Given the description of an element on the screen output the (x, y) to click on. 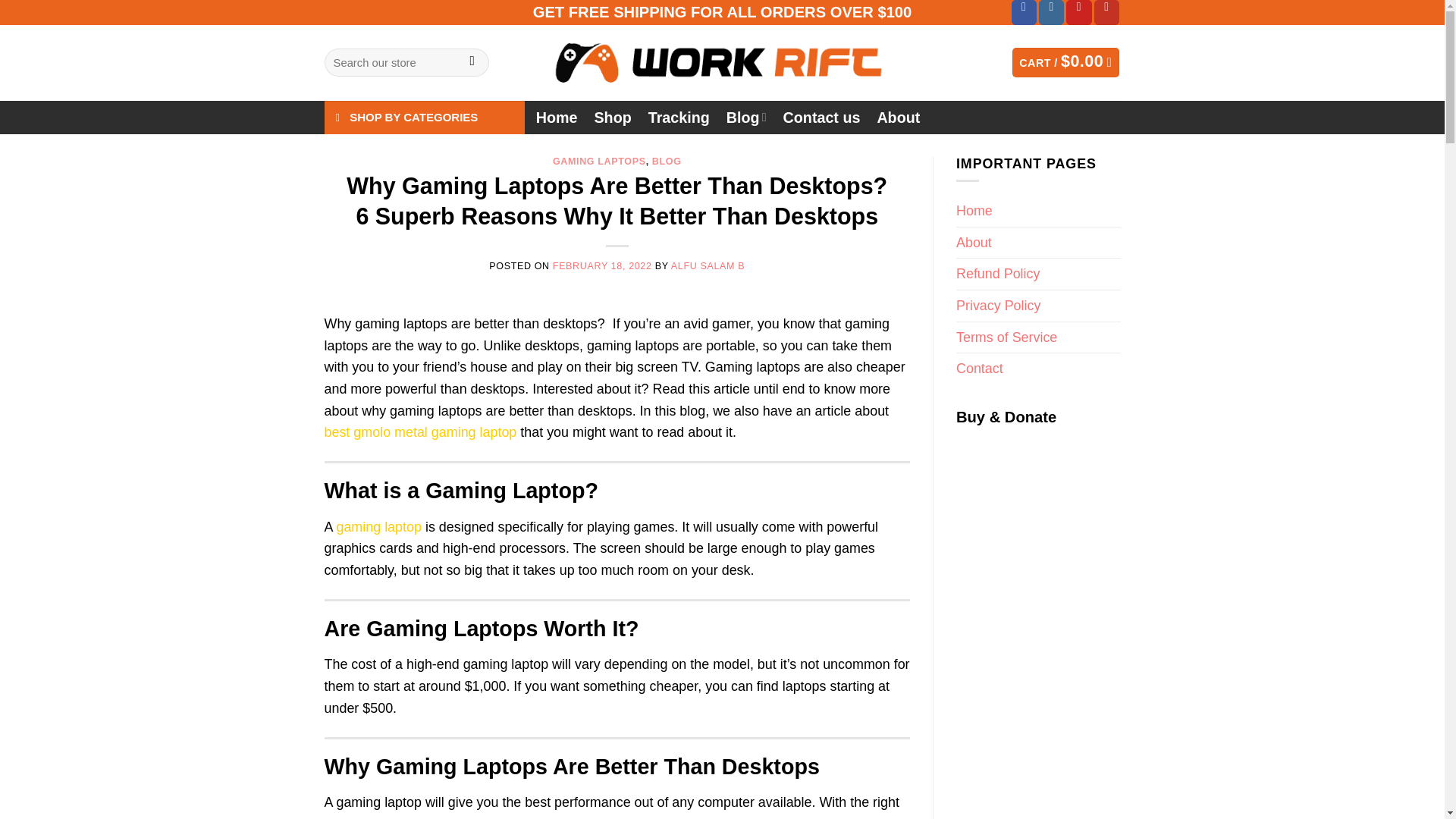
Follow on Instagram (1051, 12)
Shop (612, 117)
About (898, 117)
Home (556, 117)
Search (472, 62)
Tracking (678, 117)
Follow on Pinterest (1077, 12)
Contact us (821, 117)
Follow on Facebook (1023, 12)
Cart (1065, 61)
FEBRUARY 18, 2022 (602, 266)
Follow on YouTube (1106, 12)
Work Rift - Gamer Gear Headquarters (722, 62)
GAMING LAPTOPS (599, 161)
Blog (746, 117)
